Given the description of an element on the screen output the (x, y) to click on. 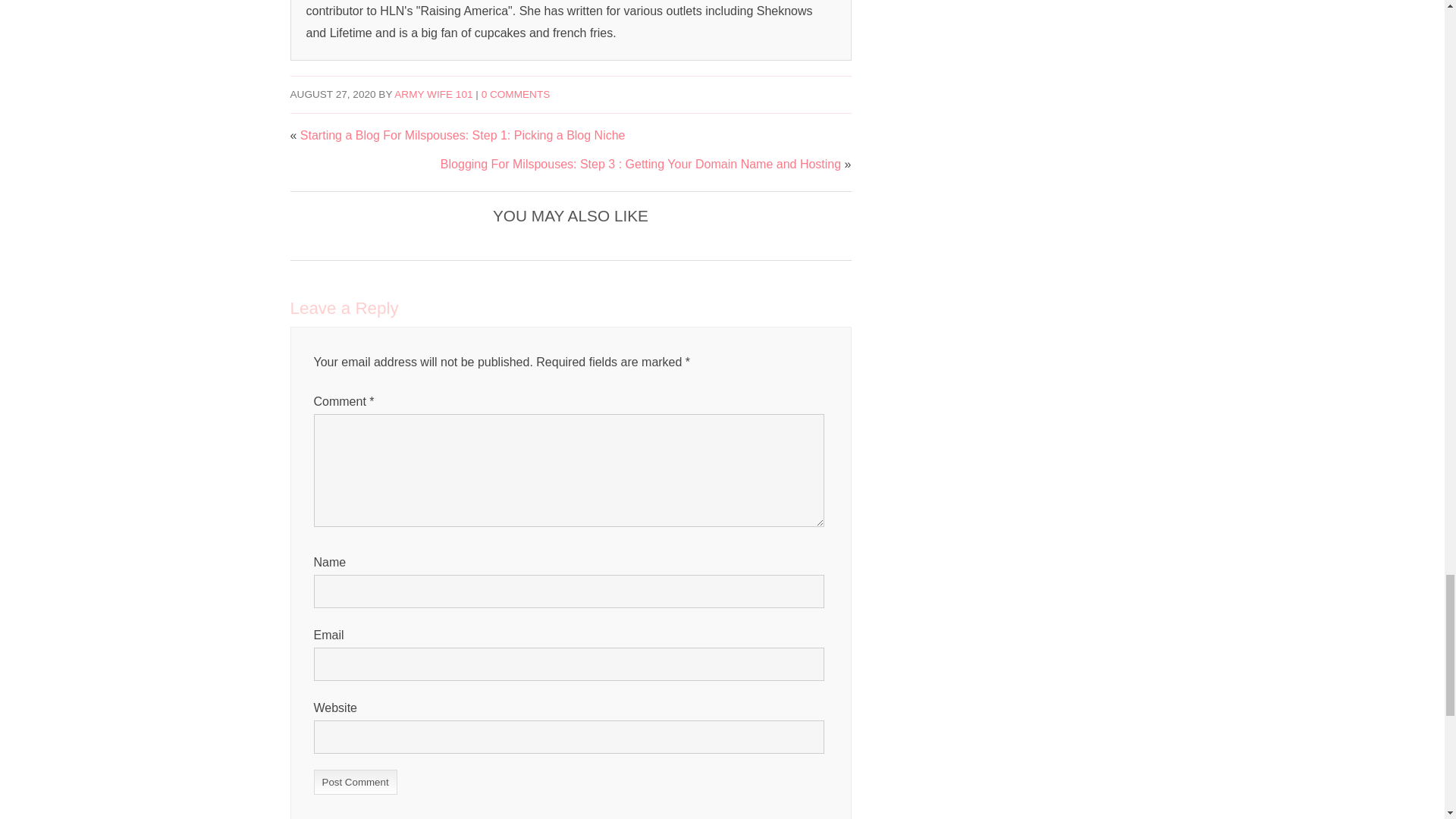
Post Comment (355, 781)
